Given the description of an element on the screen output the (x, y) to click on. 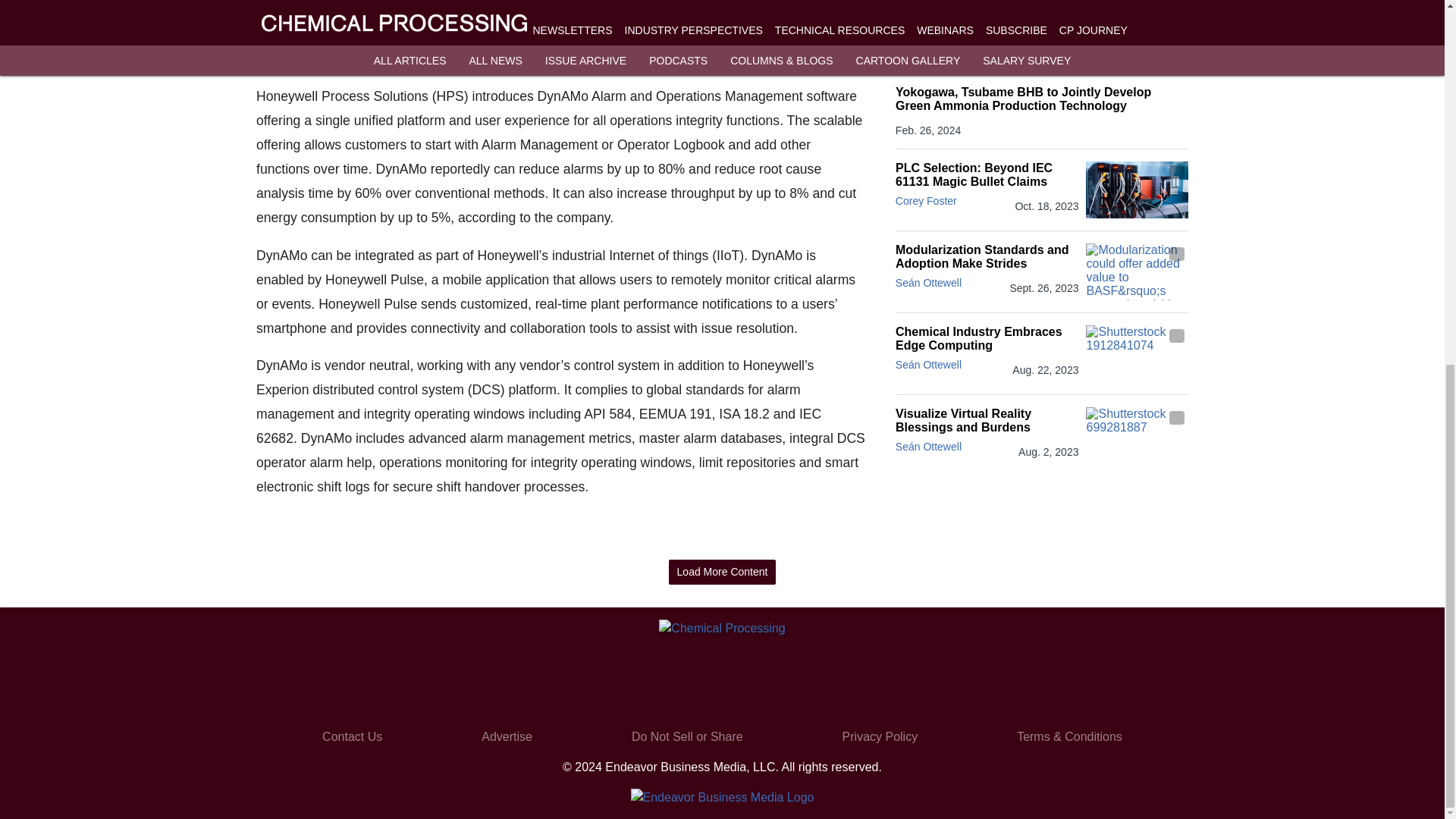
1663367813874 2603pulseimages1a (560, 28)
Shutterstock 699281887 (1137, 435)
Shutterstock 1912841074 (1137, 353)
Modularization Standards and Adoption Make Strides (986, 257)
Chemical Industry Embraces Edge Computing (986, 338)
Corey Foster (925, 200)
Visualize Virtual Reality Blessings and Burdens (986, 420)
Programmable Logic Controller (1137, 189)
PLC Selection: Beyond IEC 61131 Magic Bullet Claims (986, 175)
